Given the description of an element on the screen output the (x, y) to click on. 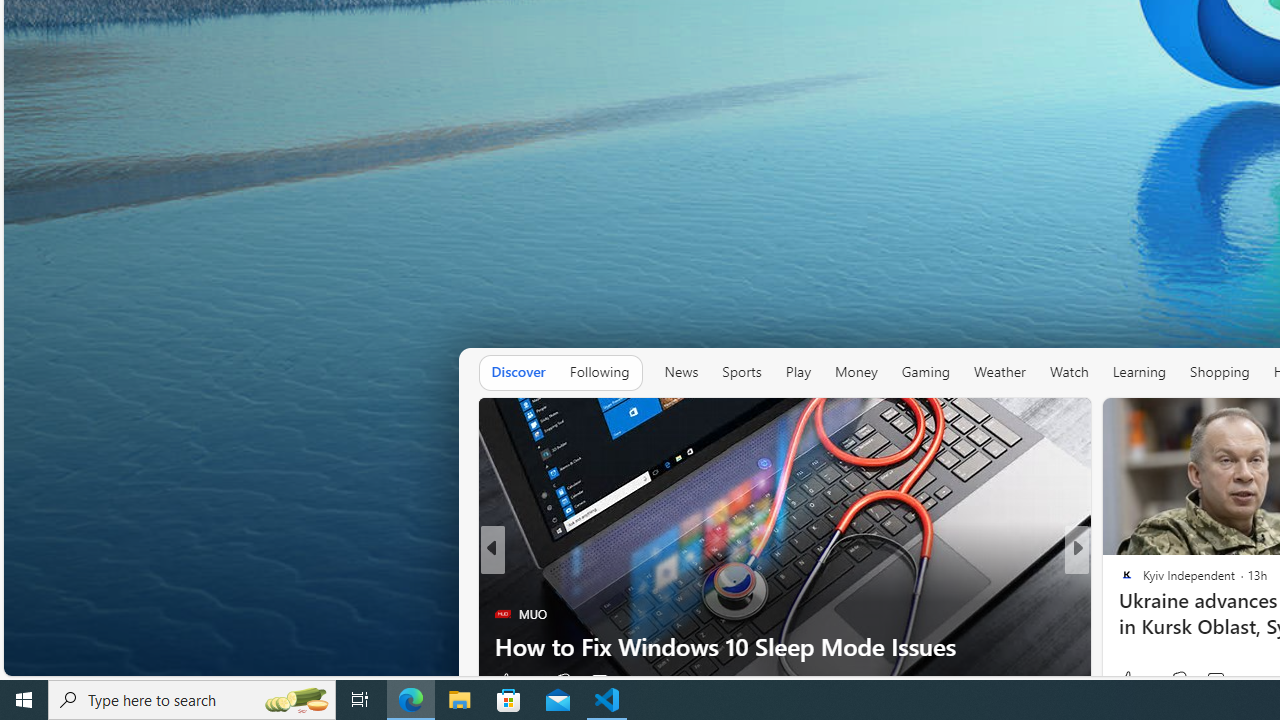
View comments 382 Comment (1227, 681)
FOX News (1117, 581)
View comments 89 Comment (1215, 681)
Play (797, 371)
5k Like (1128, 681)
Shopping (1219, 372)
How to Fix Windows 10 Sleep Mode Issues (784, 645)
View comments 65 Comment (1215, 681)
Sports (742, 372)
10 Like (1128, 681)
View comments 65 Comment (1223, 681)
View comments 31 Comment (1223, 681)
View comments 382 Comment (1215, 681)
Sports (741, 371)
